Given the description of an element on the screen output the (x, y) to click on. 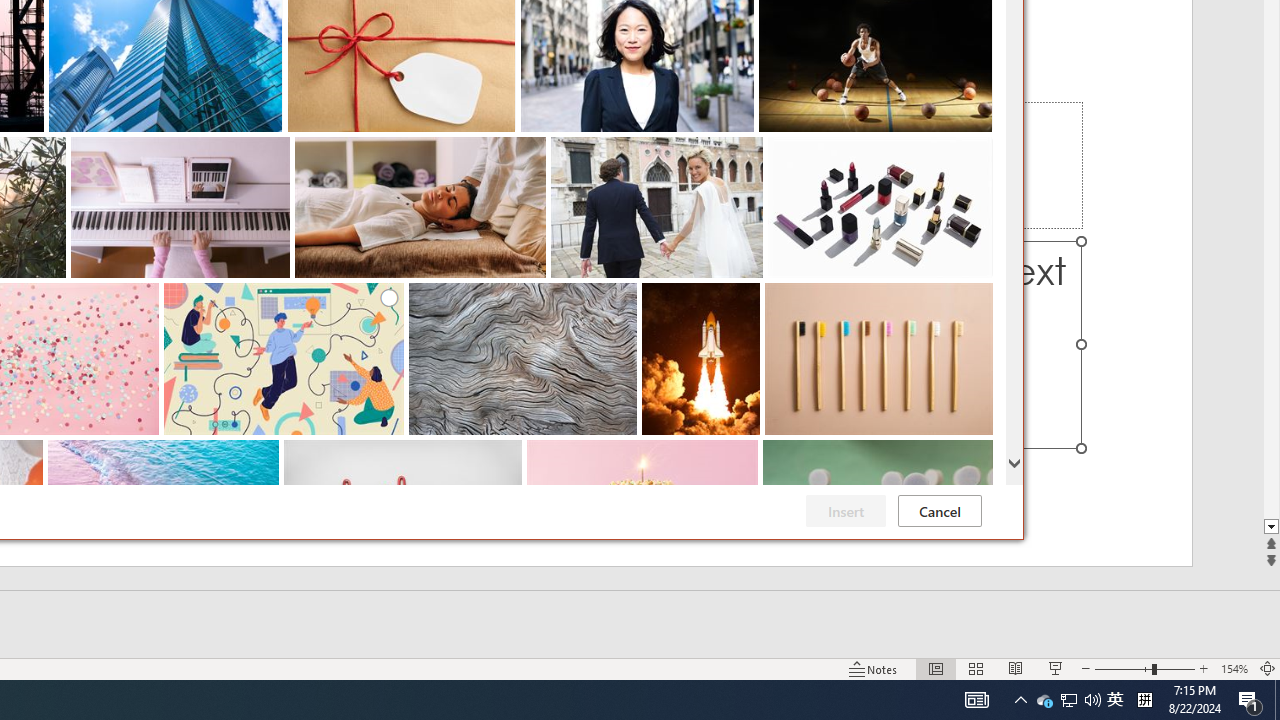
Thumbnail (977, 454)
